Given the description of an element on the screen output the (x, y) to click on. 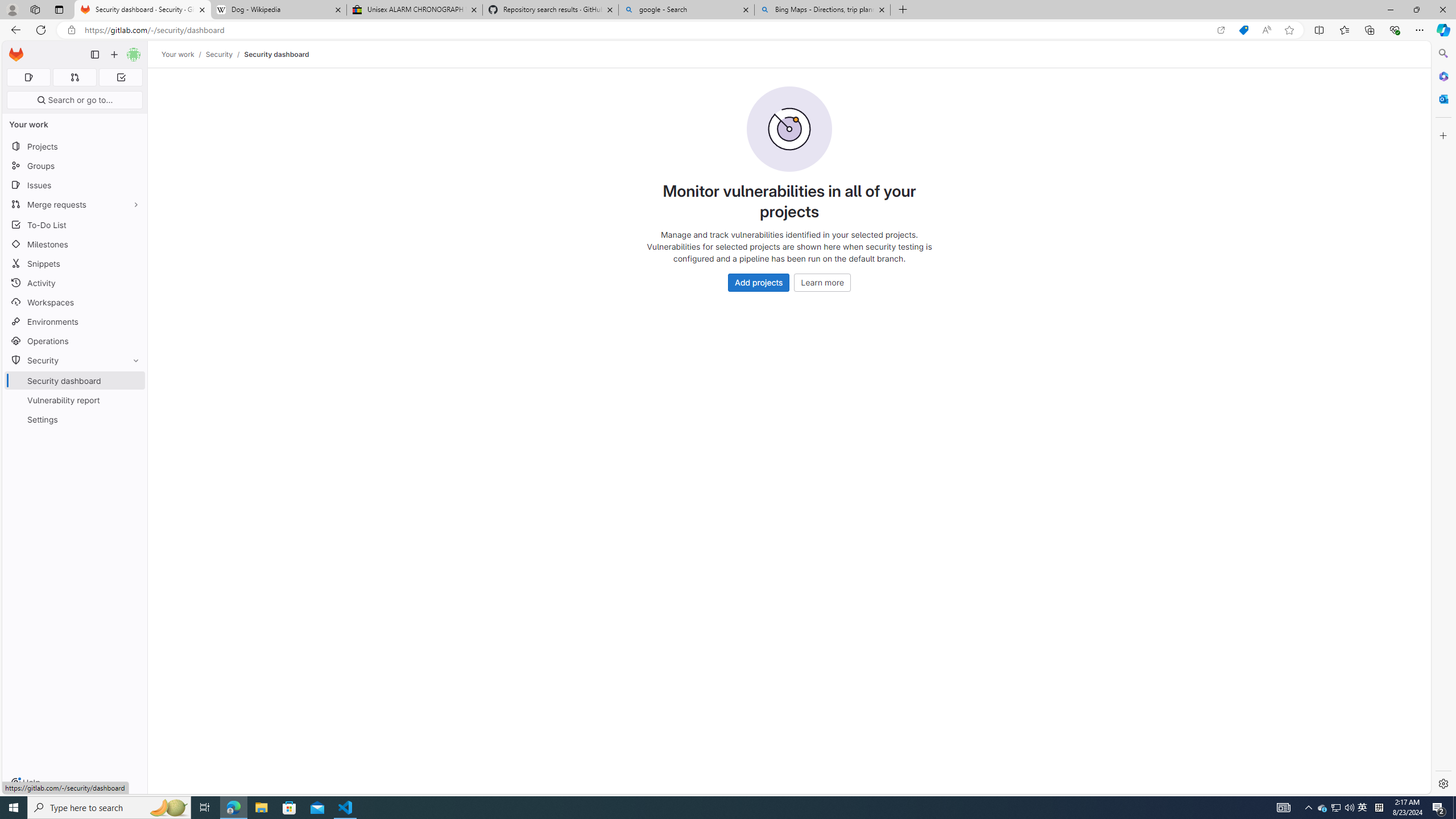
Skip to main content (13, 49)
Learn more (821, 282)
Security dashboard (276, 53)
Issues (74, 185)
Vulnerability report (74, 399)
Operations (74, 340)
Open in app (1220, 29)
Projects (74, 145)
Activity (74, 282)
Vulnerability report (74, 399)
Merge requests (74, 203)
Browser essentials (1394, 29)
Copilot (Ctrl+Shift+.) (1442, 29)
To-Do list 0 (120, 76)
Help (25, 782)
